Given the description of an element on the screen output the (x, y) to click on. 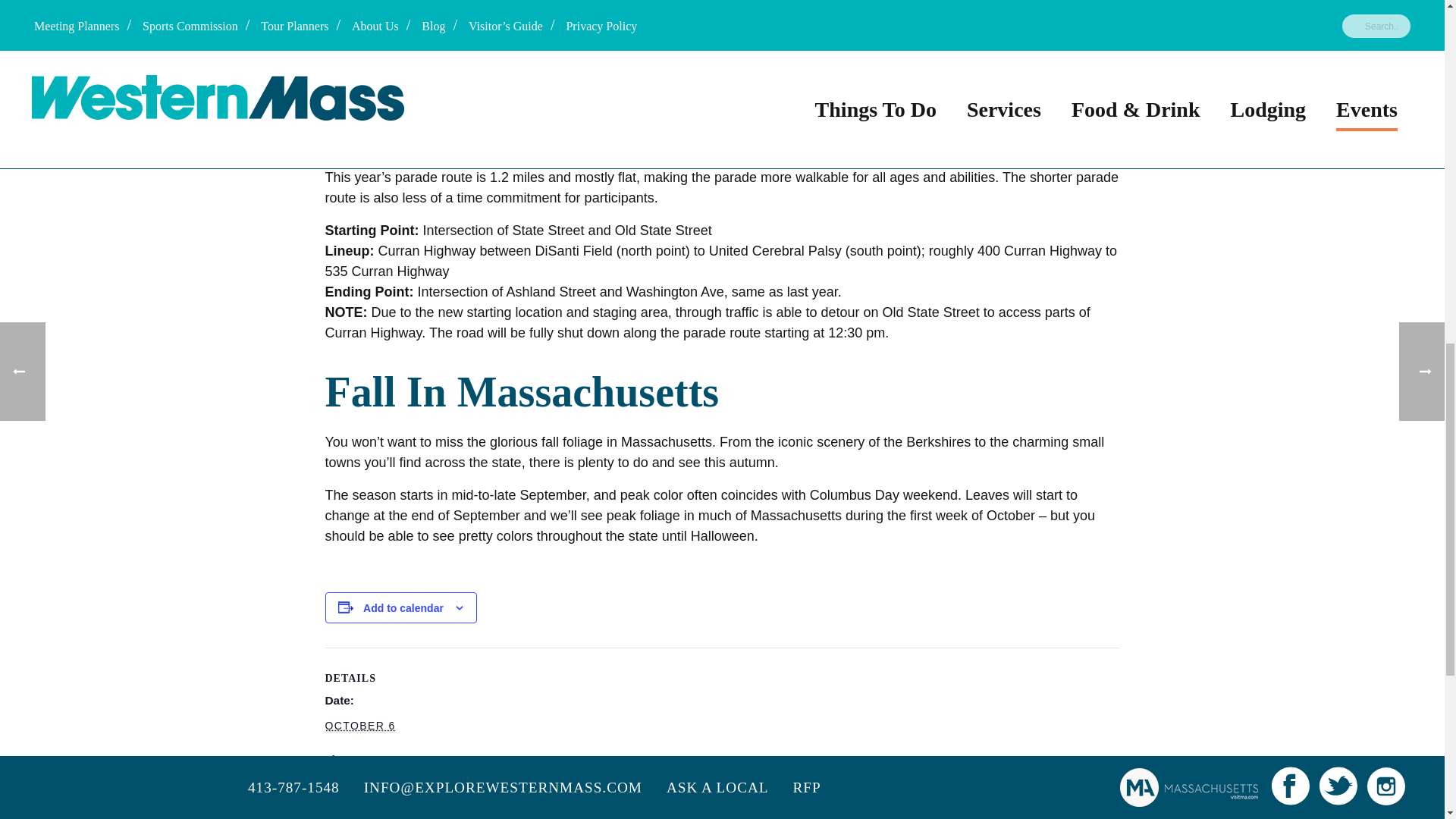
2024-10-06 (359, 725)
2024-10-06 (387, 785)
